Given the description of an element on the screen output the (x, y) to click on. 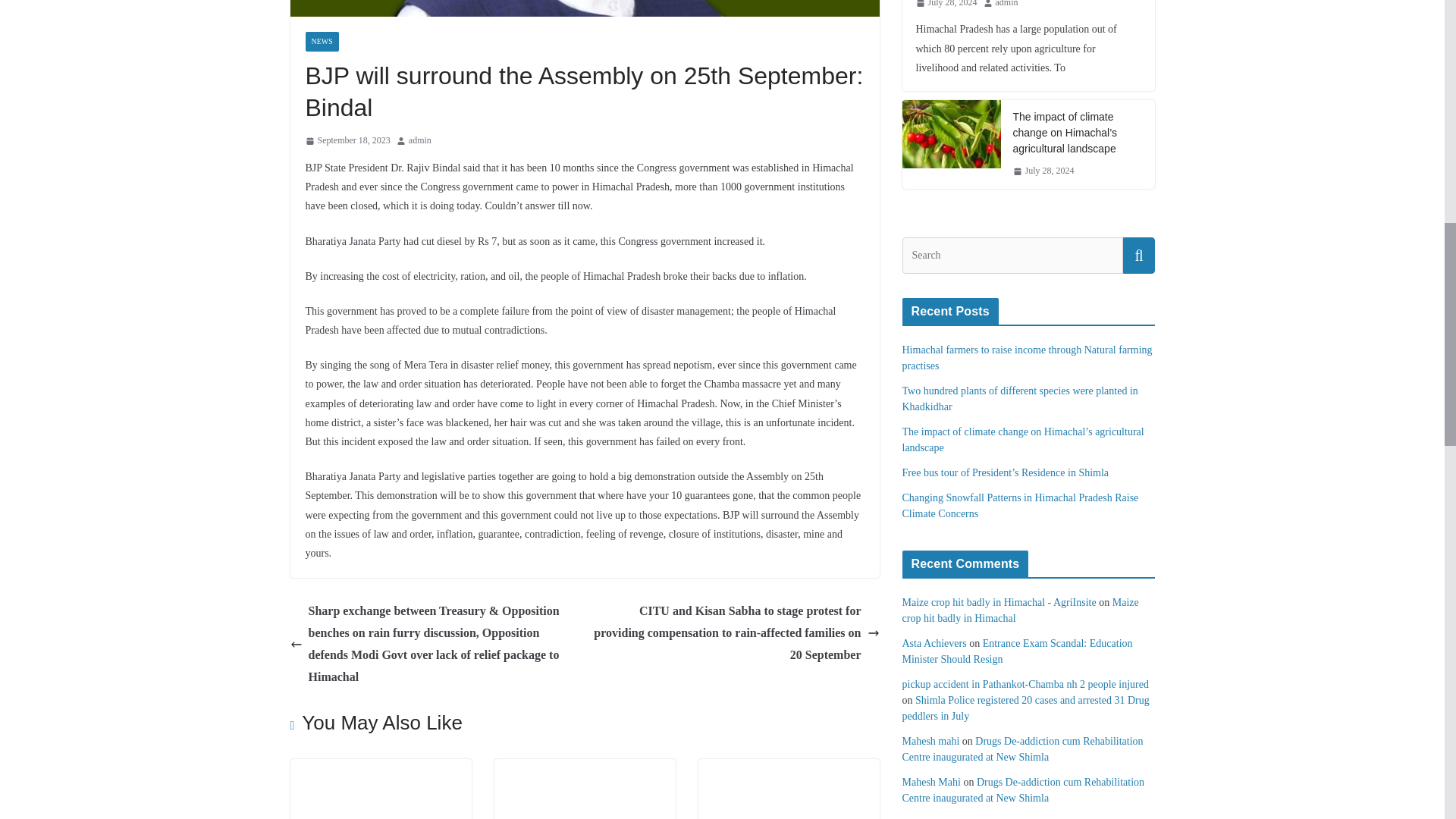
admin (419, 140)
NEWS (320, 41)
12:48 pm (347, 140)
BJP will surround the Assembly on 25th September: Bindal (584, 8)
September 18, 2023 (347, 140)
